Given the description of an element on the screen output the (x, y) to click on. 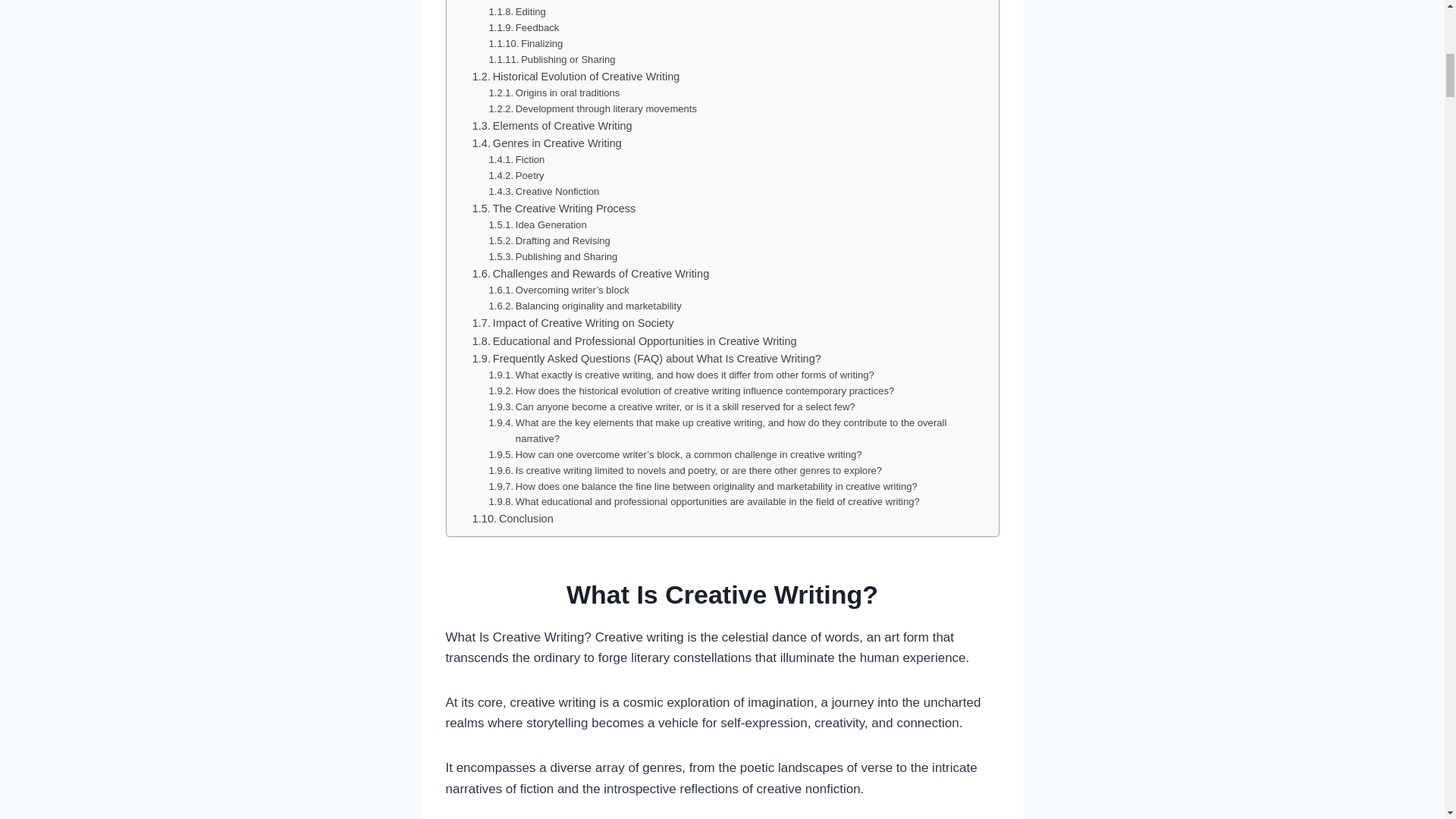
Idea Generation (537, 225)
Genres in Creative Writing (546, 143)
Editing (517, 12)
Elements of Creative Writing (551, 126)
Editing (517, 12)
Publishing or Sharing (552, 59)
Challenges and Rewards of Creative Writing (590, 273)
Origins in oral traditions (554, 93)
Revision (521, 2)
Poetry (516, 176)
Finalizing (526, 44)
Publishing and Sharing (553, 257)
Historical Evolution of Creative Writing (575, 76)
Publishing or Sharing (552, 59)
Finalizing (526, 44)
